Given the description of an element on the screen output the (x, y) to click on. 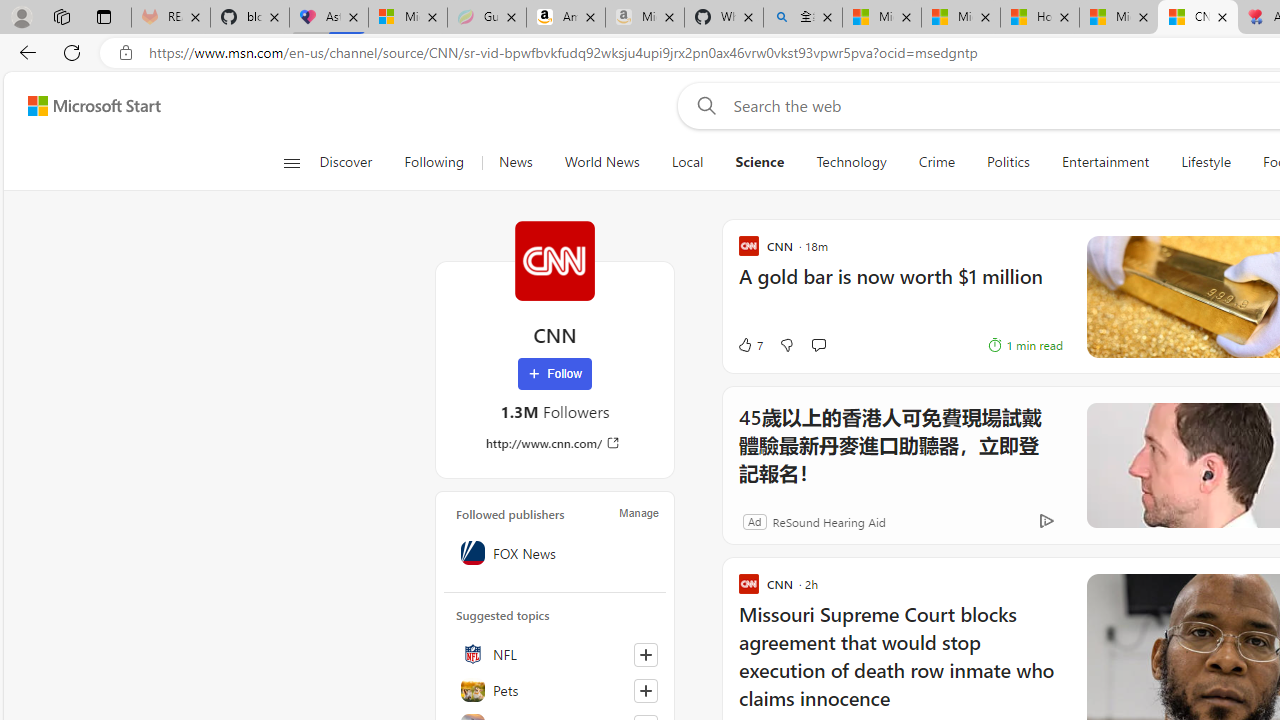
7 Like (749, 344)
Ad Choice (1046, 521)
http://www.cnn.com/ (554, 443)
Crime (936, 162)
Science (760, 162)
Asthma Inhalers: Names and Types (329, 17)
